Given the description of an element on the screen output the (x, y) to click on. 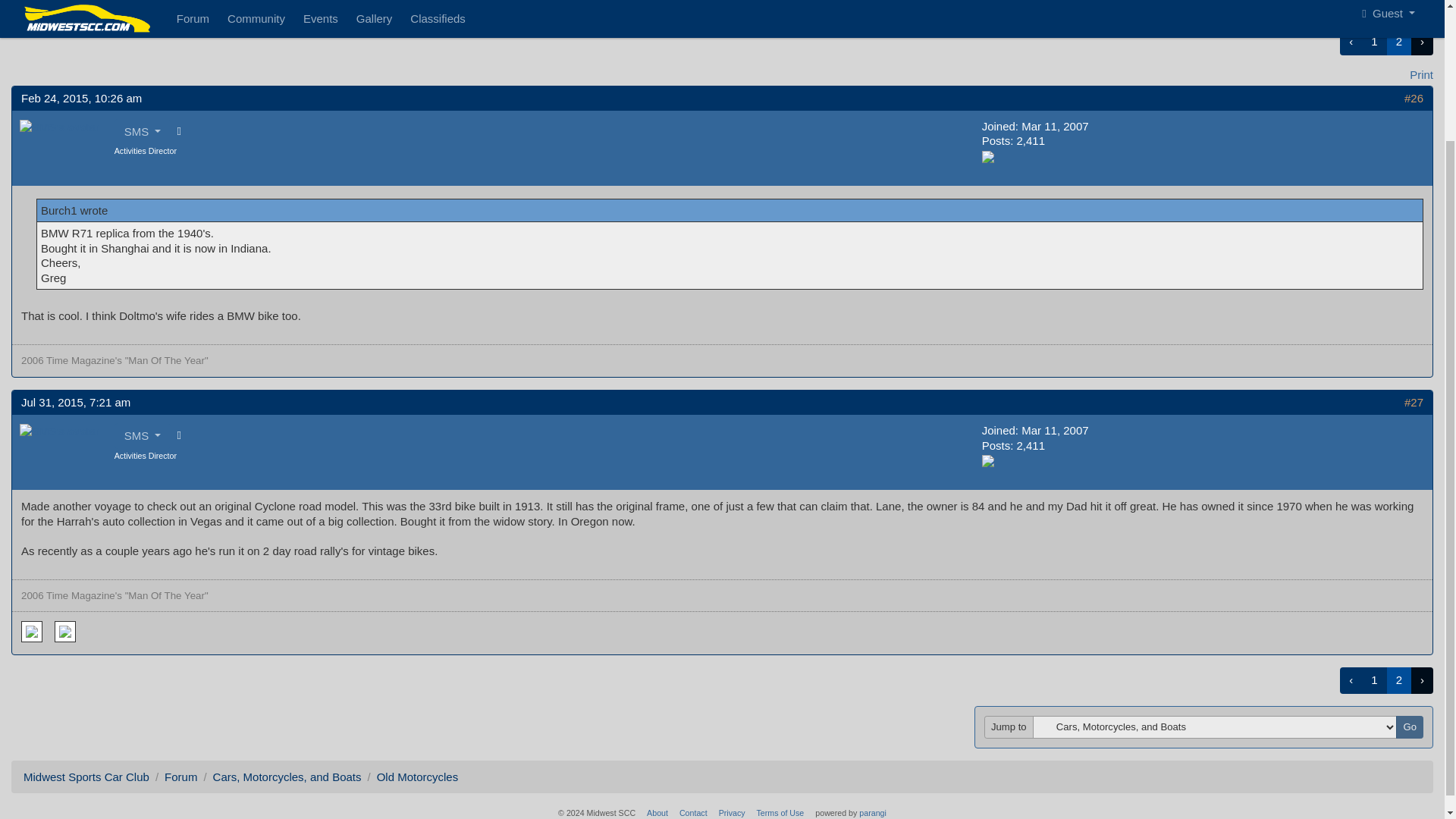
Cars, Motorcycles, and Boats (286, 776)
Old Motorcycles (417, 776)
1 (1373, 41)
Go (1409, 726)
Midwest Sports Car Club (86, 776)
SMS's avatar (59, 431)
SMS's avatar (59, 127)
Midwest Sports Car Club (86, 3)
SMS (143, 435)
Cars, Motorcycles, and Boats (286, 3)
